Given the description of an element on the screen output the (x, y) to click on. 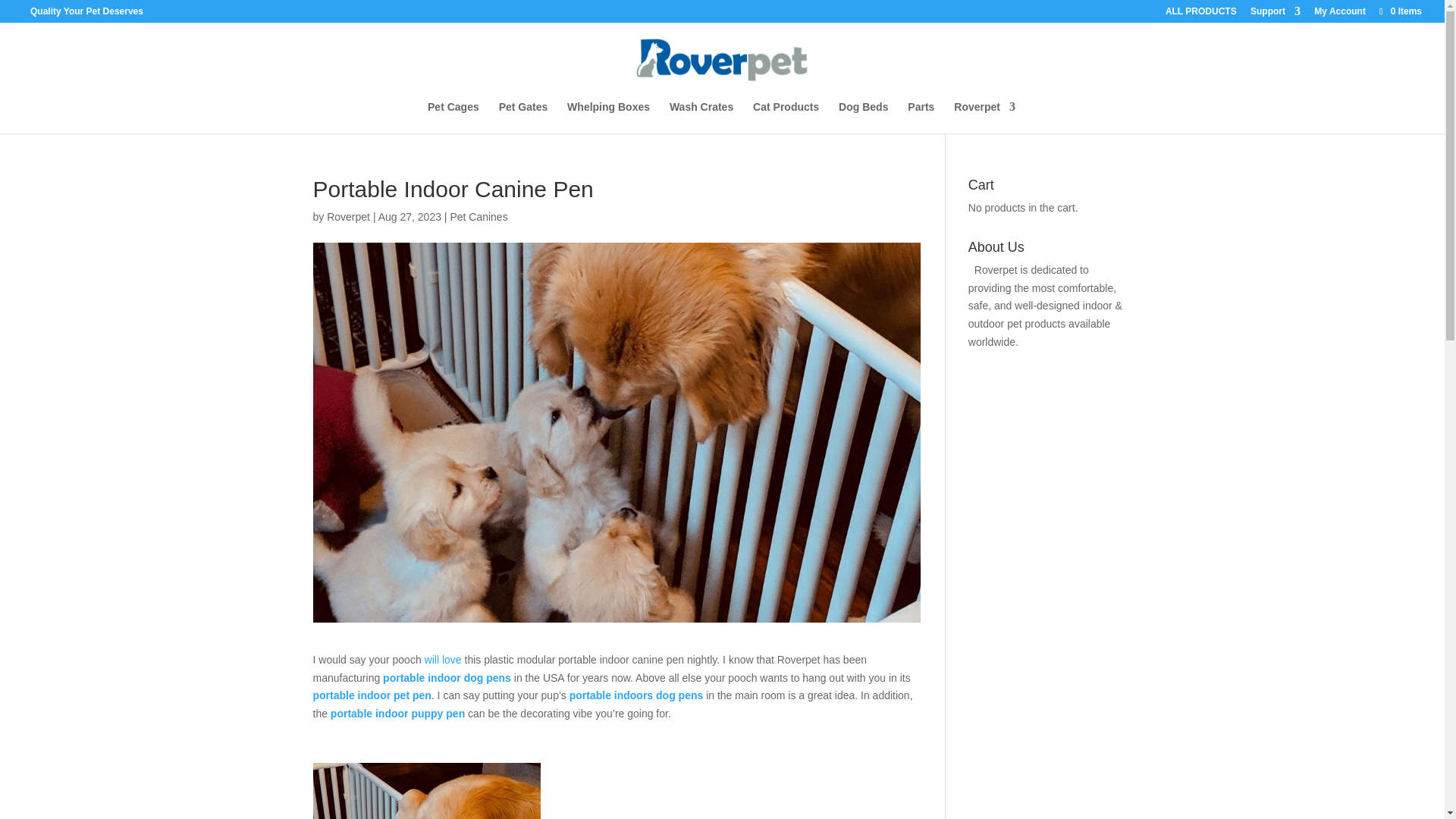
Roverpet (983, 117)
Cat Products (785, 117)
Pet Canines (477, 216)
Pet Cages (453, 117)
Portable Indoor Canine Pen (426, 790)
Wash Crates (701, 117)
Support (1275, 14)
Pet Gates (523, 117)
0 Items (1399, 10)
ALL PRODUCTS (1201, 14)
